Given the description of an element on the screen output the (x, y) to click on. 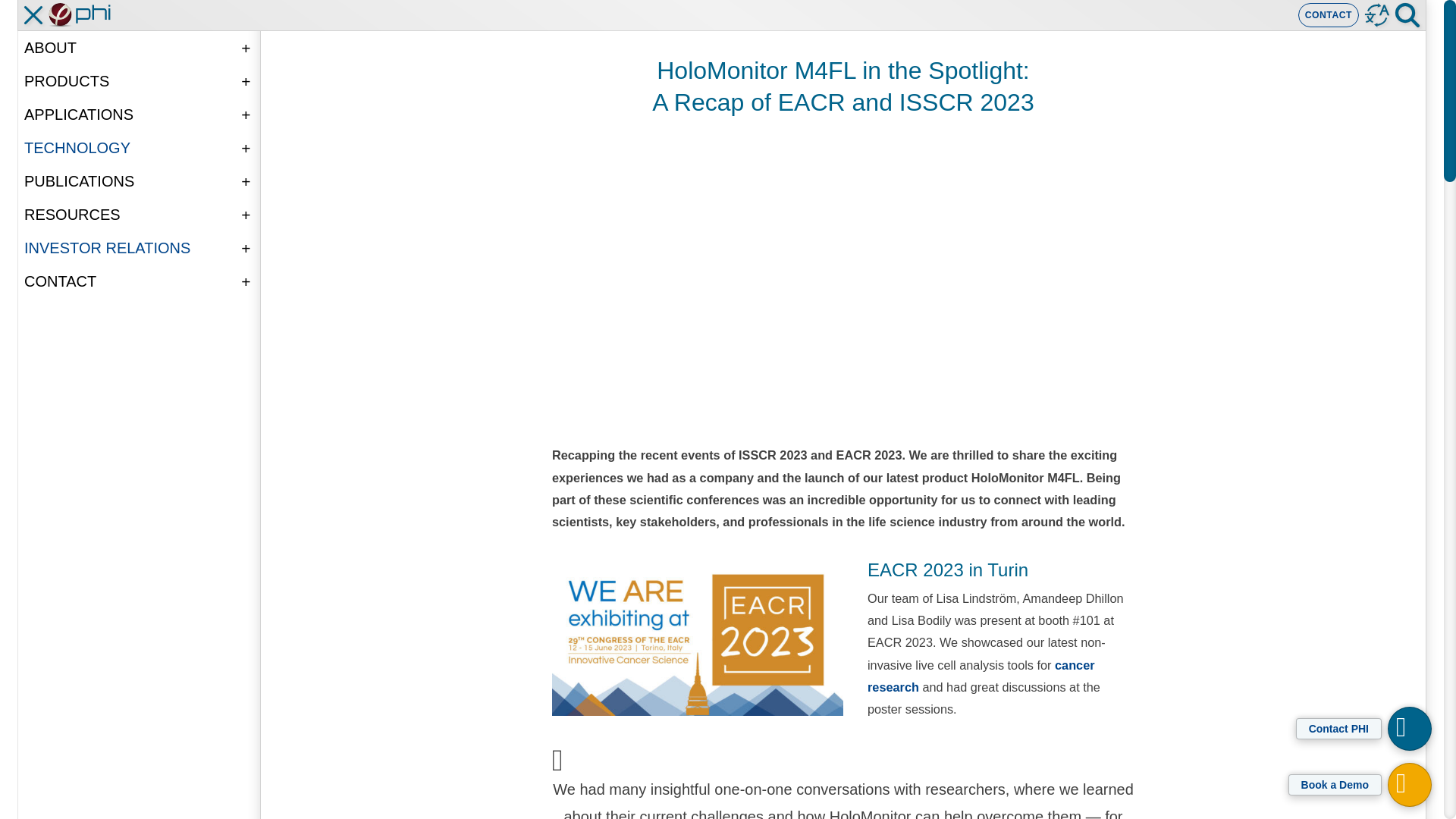
YouTube Video (842, 278)
Contact PHI (1338, 728)
CONTACT (1328, 15)
Book a Demo (1334, 784)
